Given the description of an element on the screen output the (x, y) to click on. 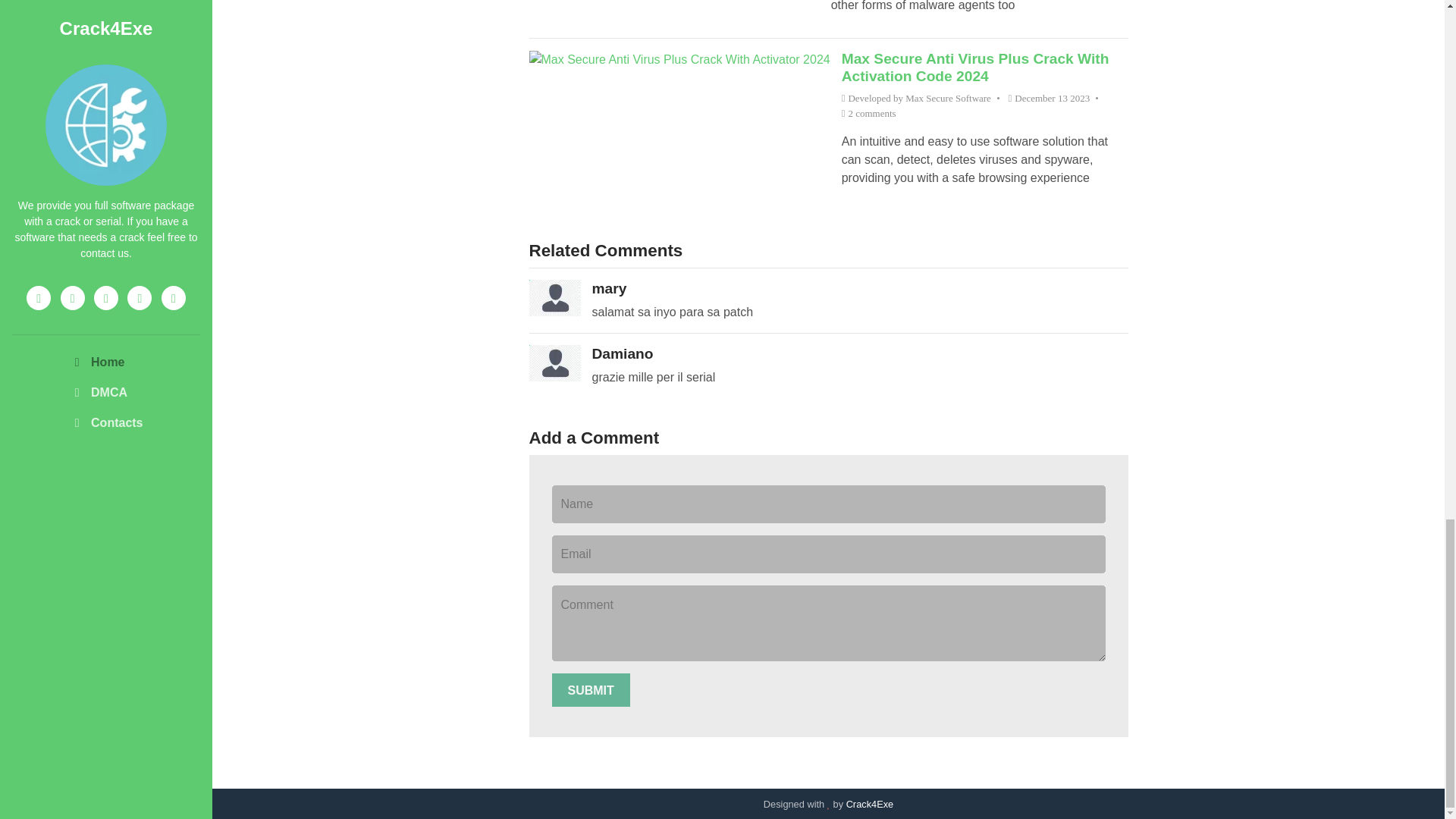
SUBMIT (590, 689)
Crack4Exe (869, 803)
Max Secure Anti Virus Plus Crack With Activation Code 2024 (975, 67)
